Given the description of an element on the screen output the (x, y) to click on. 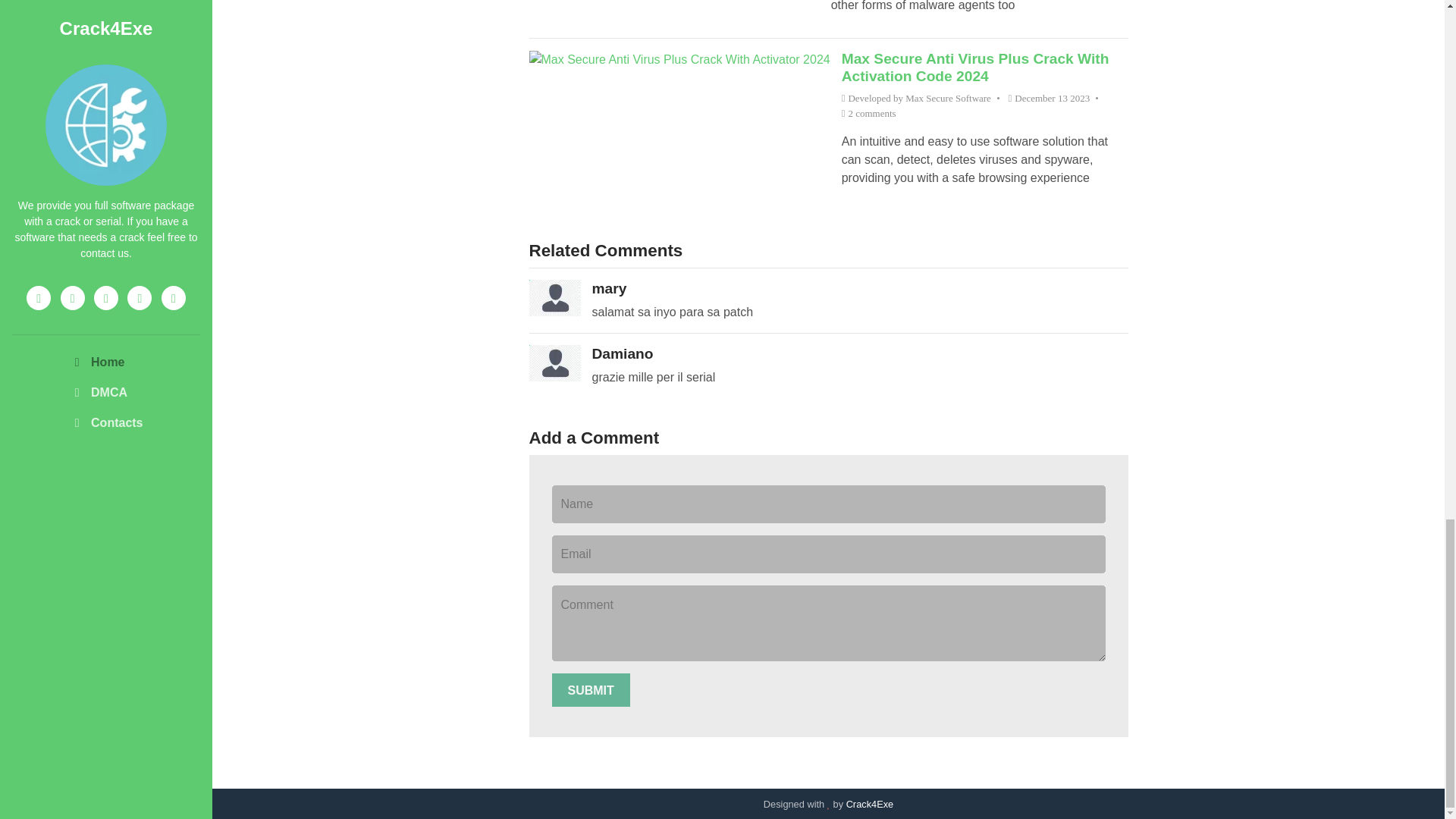
SUBMIT (590, 689)
Crack4Exe (869, 803)
Max Secure Anti Virus Plus Crack With Activation Code 2024 (975, 67)
